Given the description of an element on the screen output the (x, y) to click on. 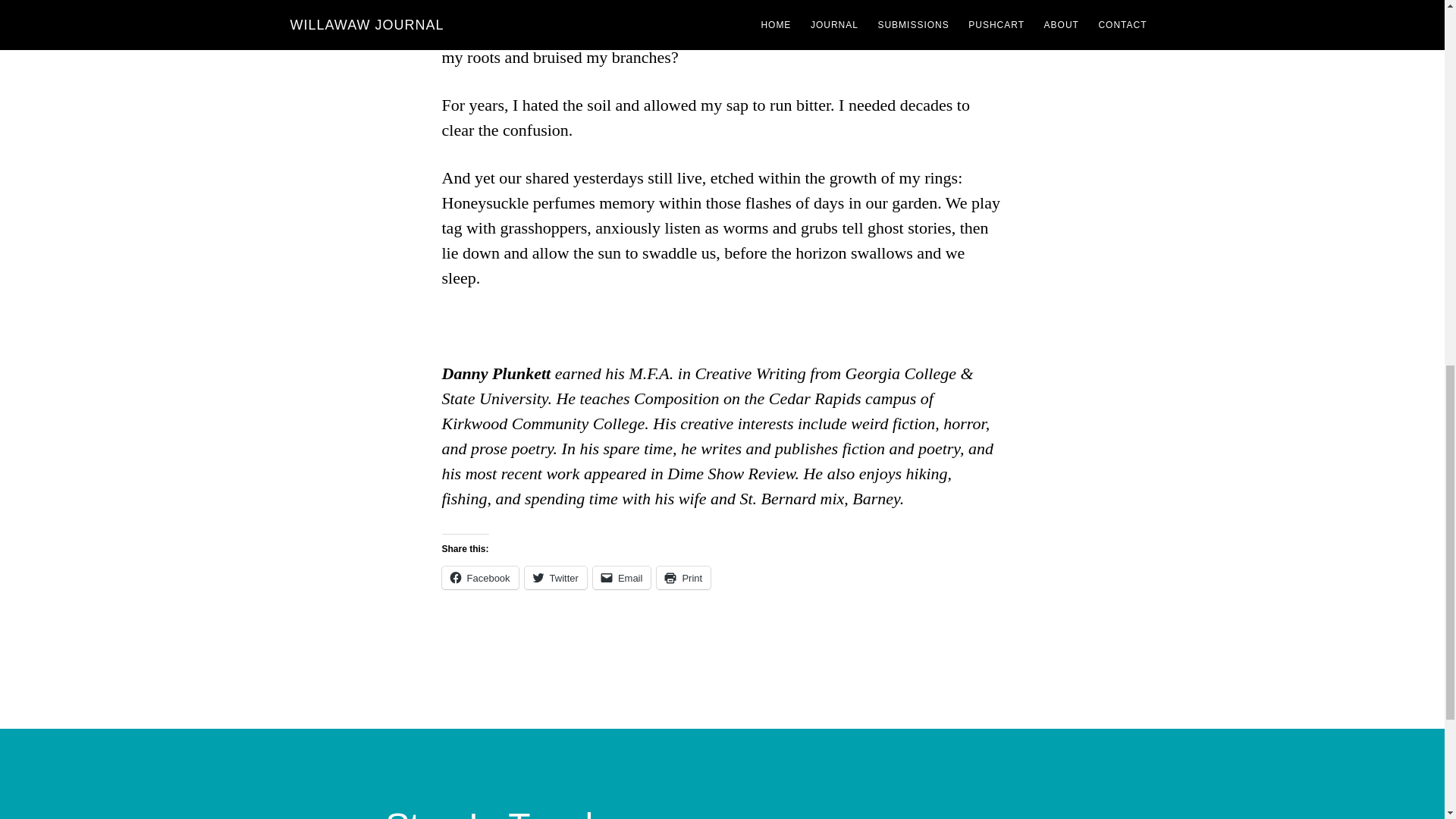
Click to share on Facebook (479, 577)
Facebook (479, 577)
Print (683, 577)
Click to email a link to a friend (621, 577)
Click to share on Twitter (555, 577)
Twitter (555, 577)
Click to print (683, 577)
Email (621, 577)
